Given the description of an element on the screen output the (x, y) to click on. 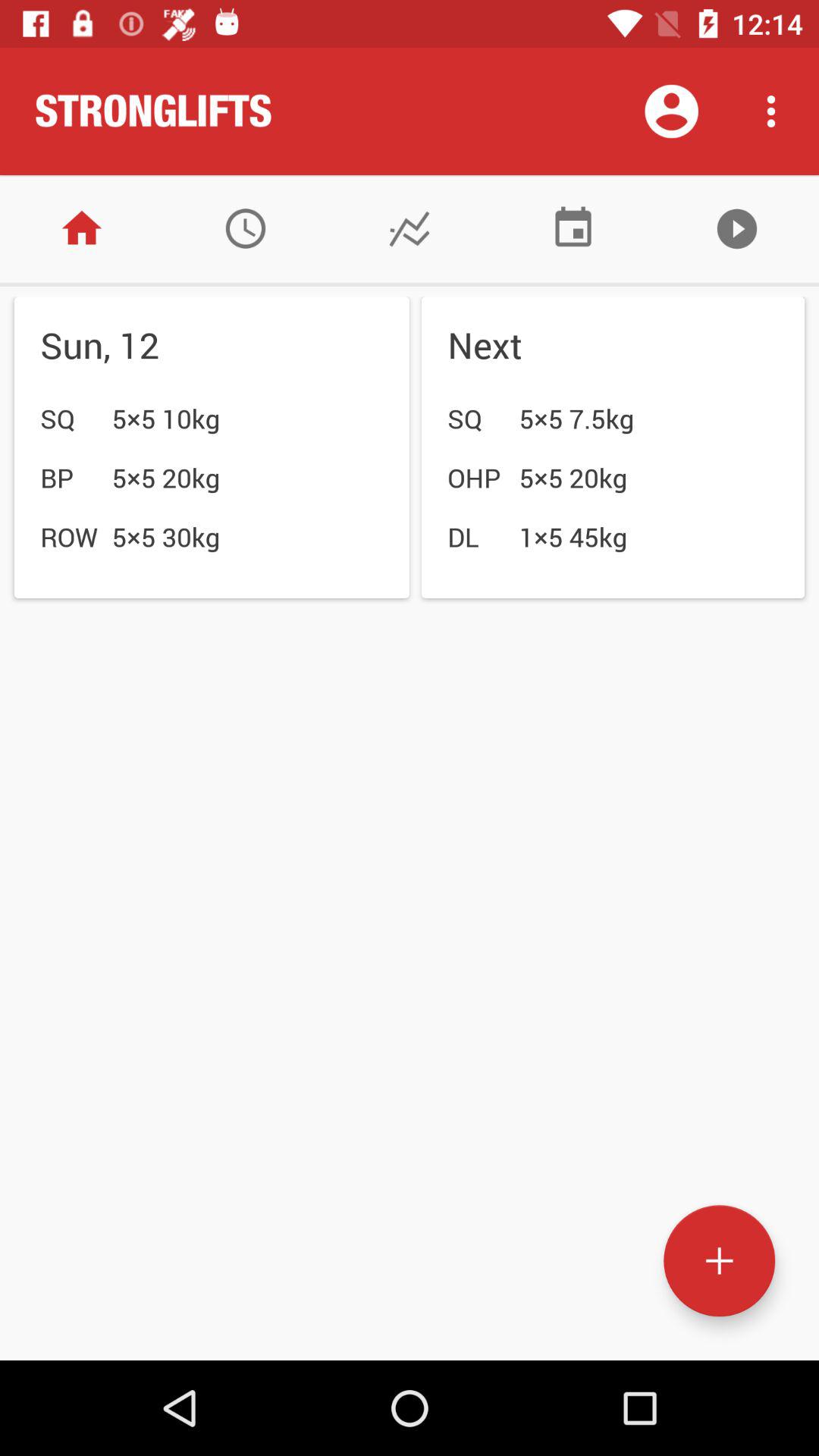
click icon at the bottom right corner (719, 1260)
